Given the description of an element on the screen output the (x, y) to click on. 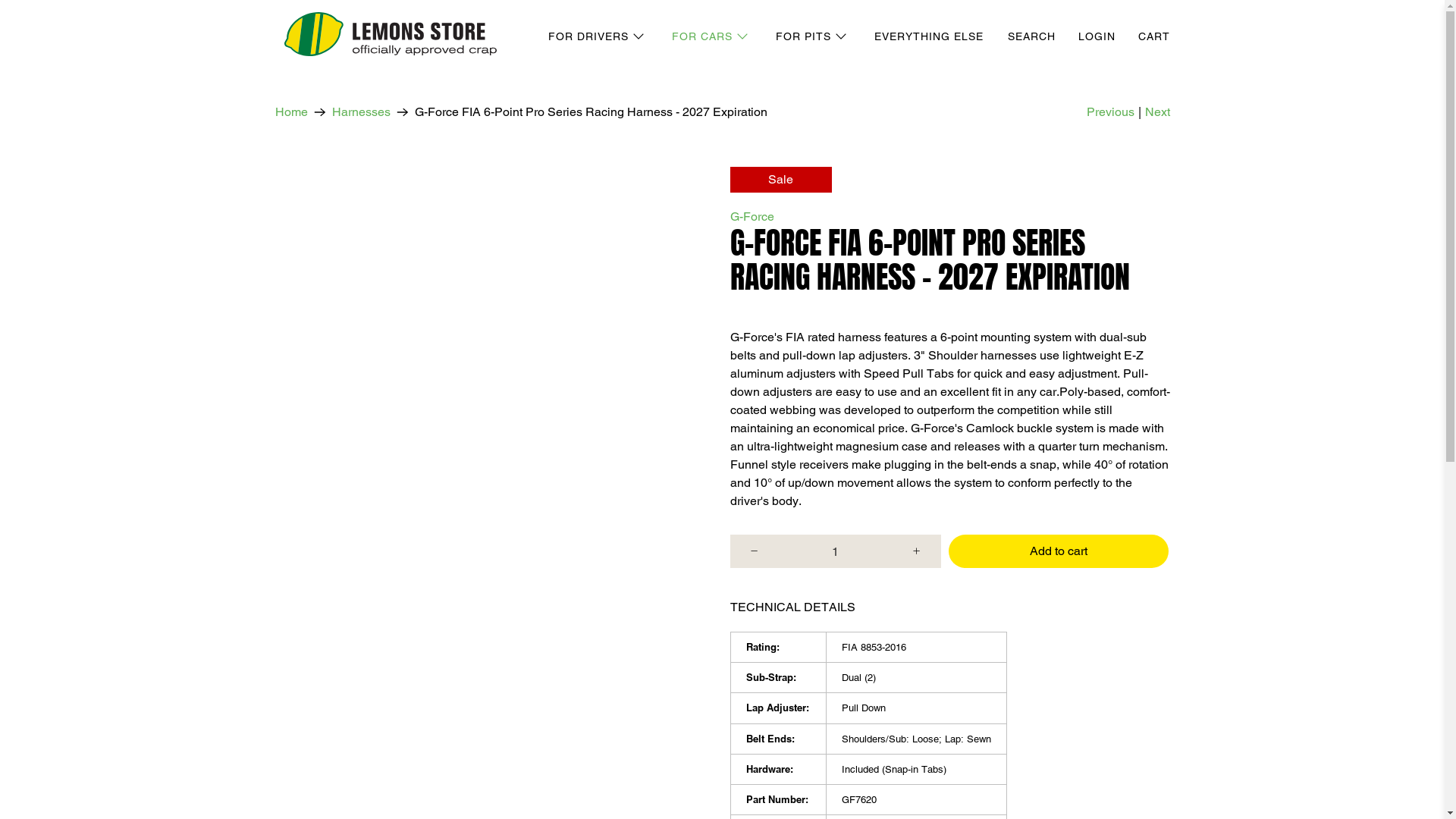
CART Element type: text (1153, 36)
Add to cart Element type: text (1057, 550)
Harnesses Element type: text (361, 112)
G-Force Element type: text (751, 216)
Home Element type: text (290, 112)
Previous Element type: text (1109, 112)
FOR DRIVERS Element type: text (596, 36)
LOGIN Element type: text (1096, 36)
FOR CARS Element type: text (710, 36)
Next Element type: text (1157, 112)
SEARCH Element type: text (1031, 36)
FOR PITS Element type: text (810, 36)
24 Hours of Lemons Element type: hover (389, 36)
EVERYTHING ELSE Element type: text (927, 36)
